Given the description of an element on the screen output the (x, y) to click on. 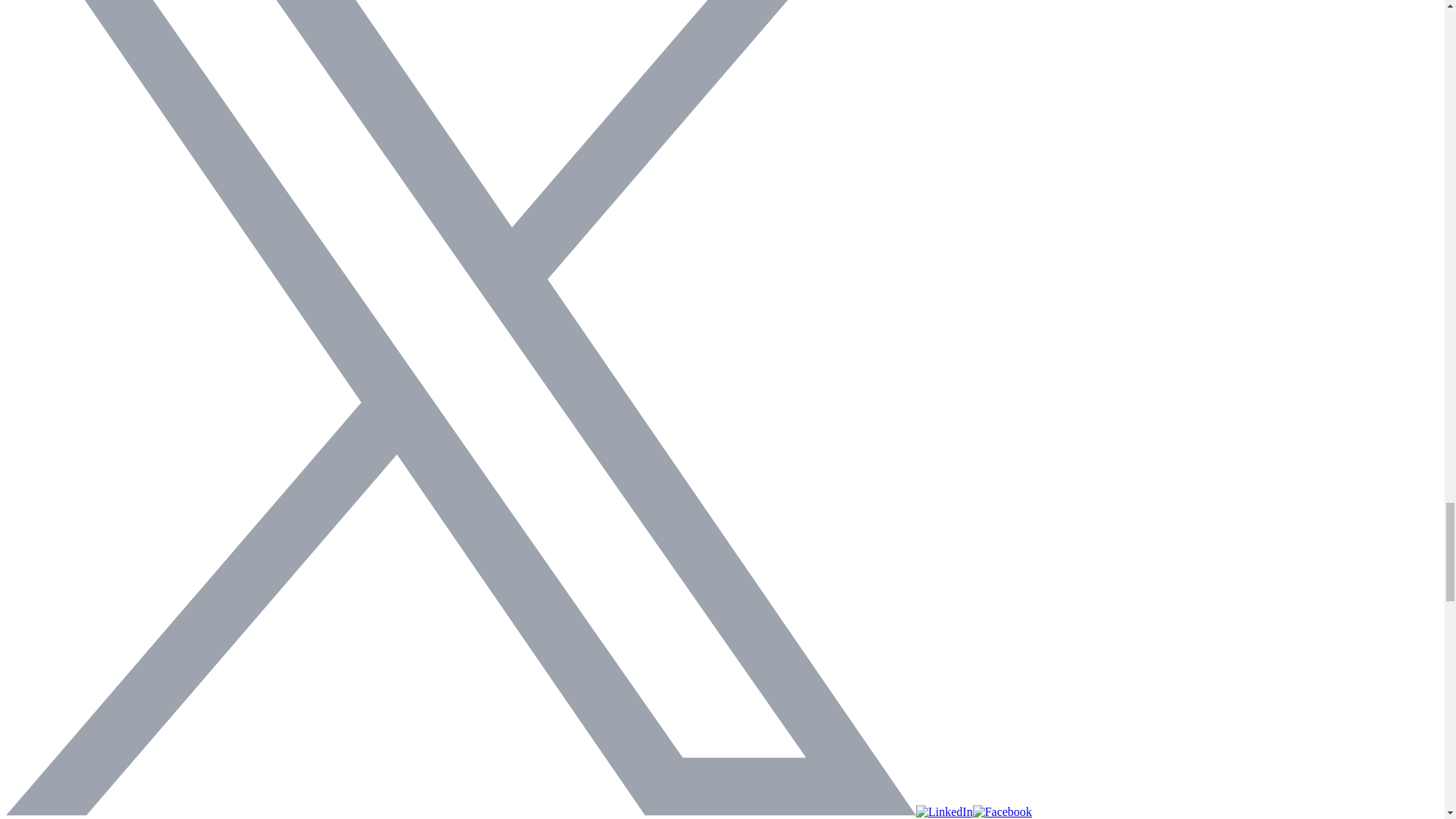
Share on Facebook (1002, 811)
